Given the description of an element on the screen output the (x, y) to click on. 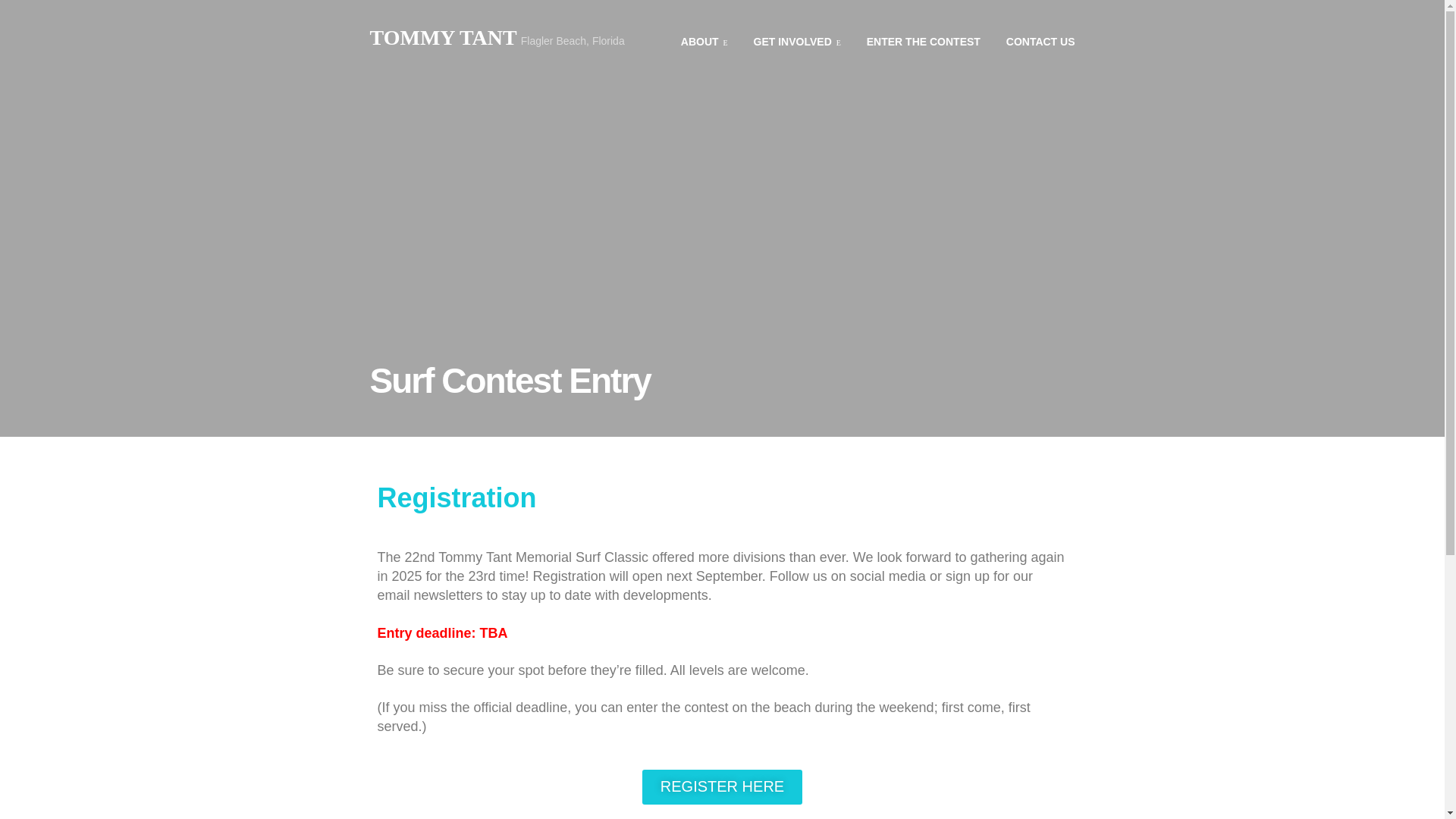
TOMMY TANT Flagler Beach, Florida (496, 38)
ABOUT (704, 41)
REGISTER HERE (722, 786)
Tommy Tant (496, 38)
CONTACT US (1040, 41)
GET INVOLVED (797, 41)
ENTER THE CONTEST (922, 41)
